Given the description of an element on the screen output the (x, y) to click on. 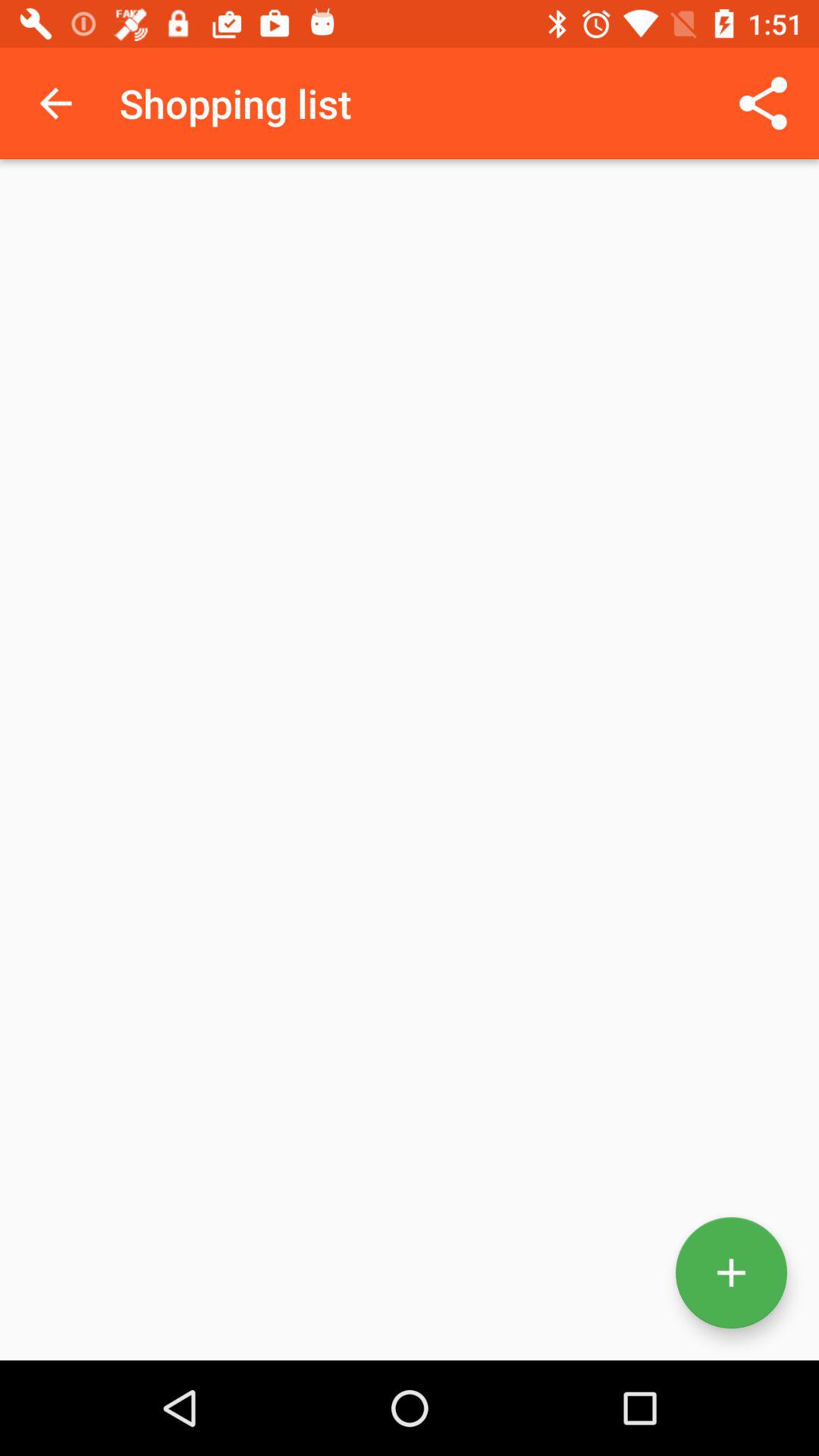
launch icon next to shopping list app (763, 103)
